Given the description of an element on the screen output the (x, y) to click on. 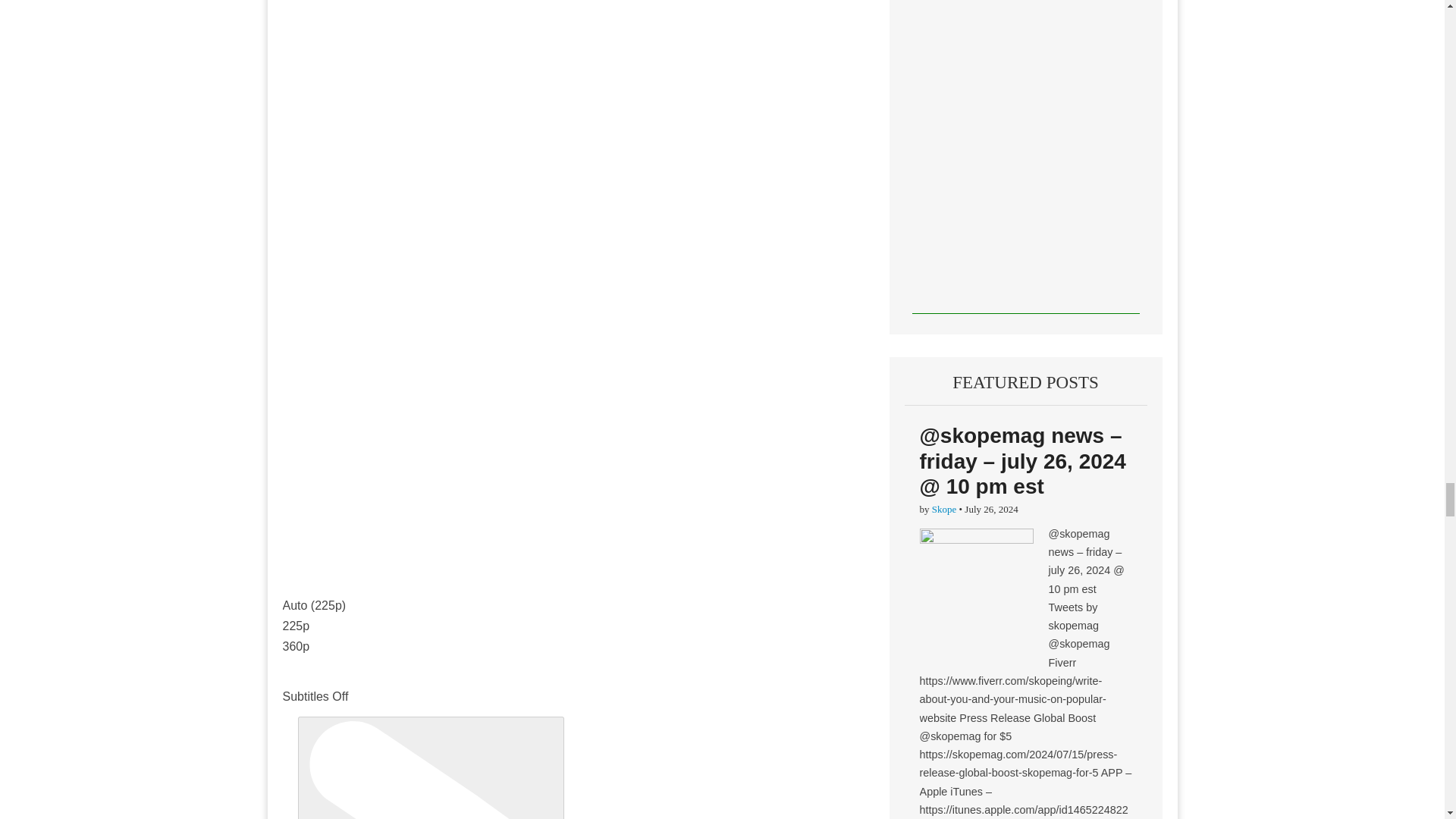
Posts by Skope (943, 509)
